Given the description of an element on the screen output the (x, y) to click on. 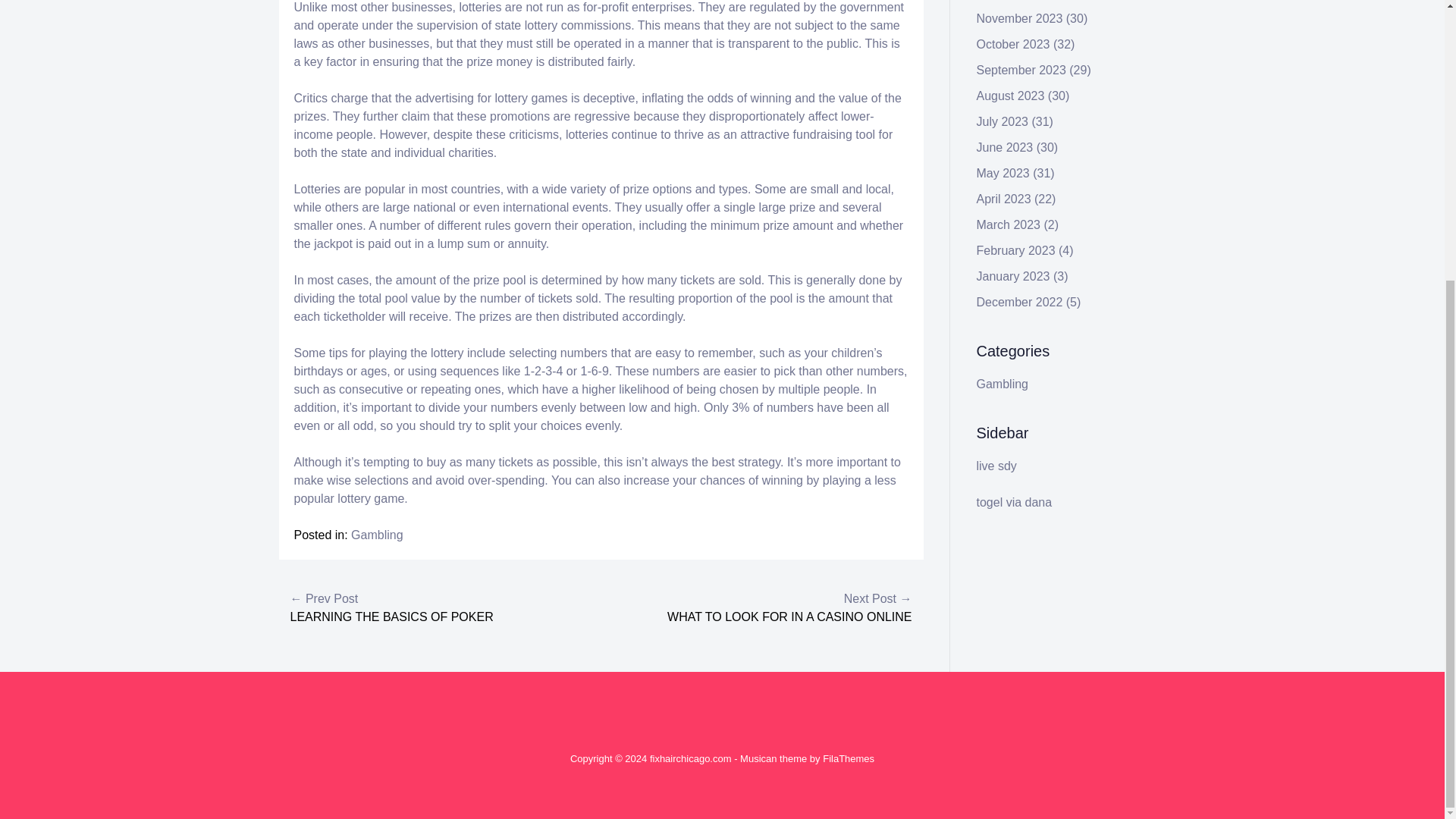
April 2023 (1003, 198)
January 2023 (1012, 276)
August 2023 (1010, 95)
May 2023 (1002, 173)
September 2023 (1020, 69)
Gambling (376, 534)
live sdy (996, 465)
fixhairchicago.com (690, 758)
November 2023 (1019, 18)
July 2023 (1002, 121)
June 2023 (1004, 146)
Gambling (1001, 383)
fixhairchicago.com (690, 758)
March 2023 (1008, 224)
October 2023 (1012, 43)
